Given the description of an element on the screen output the (x, y) to click on. 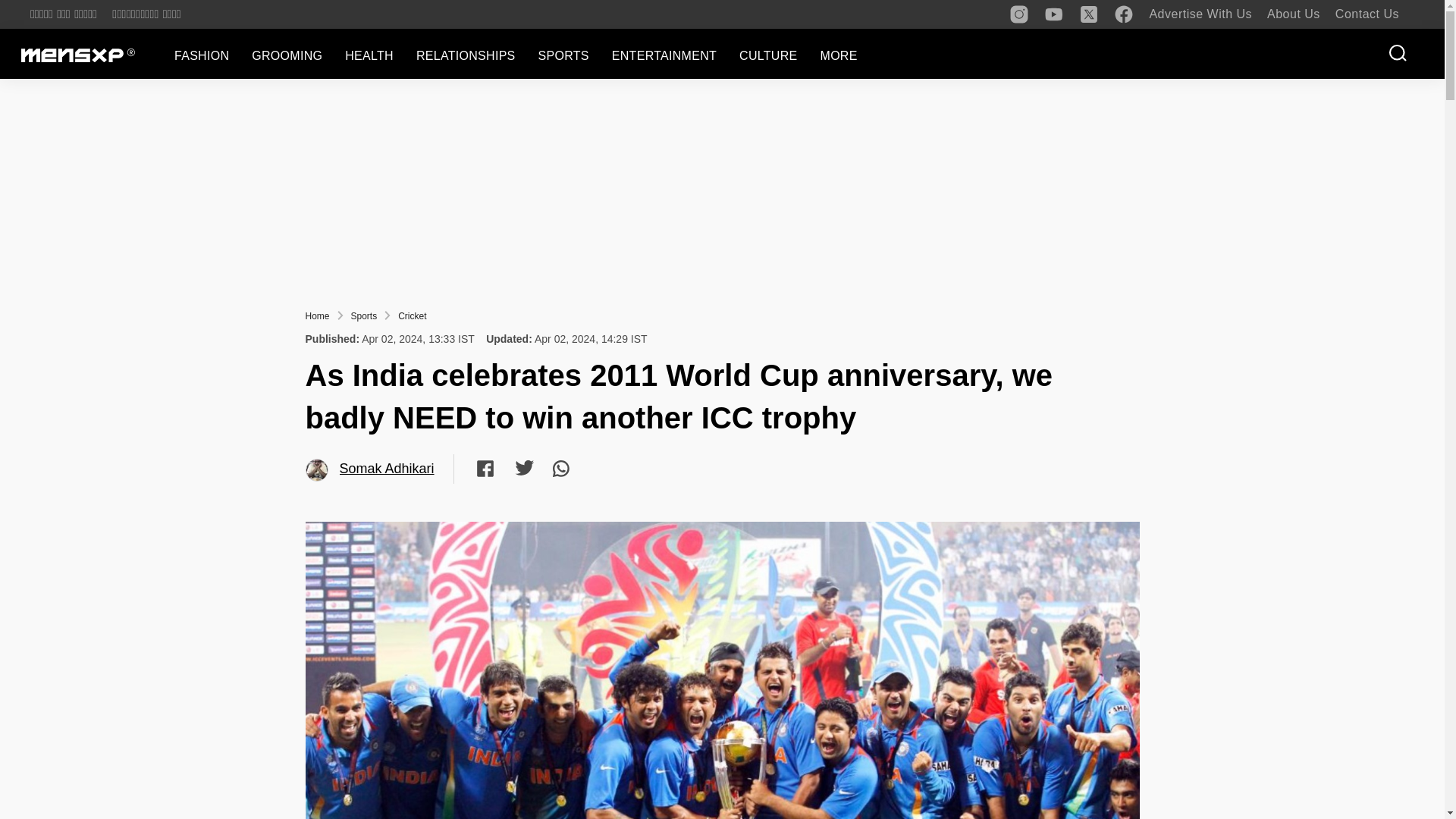
About Us (1293, 13)
Cricket (411, 316)
Home (316, 316)
Advertise With Us (1200, 13)
About Us (1293, 13)
Sports (363, 316)
Somak Adhikari (317, 470)
Advertise With Us (1200, 13)
Contact Us  (1367, 13)
Contact Us (1367, 13)
